Given the description of an element on the screen output the (x, y) to click on. 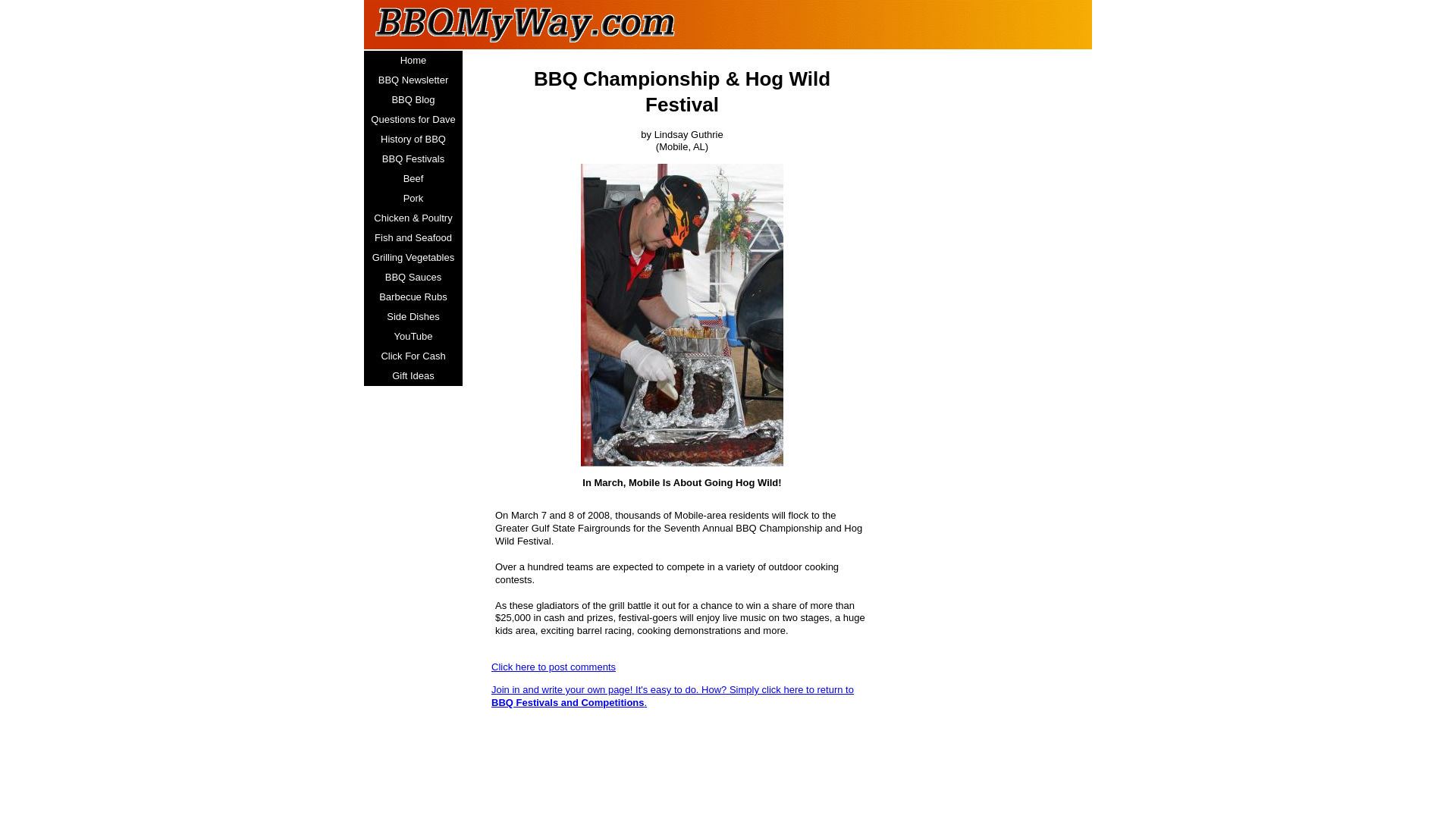
BBQ Sauces (413, 277)
Gift Ideas (413, 375)
Fish and Seafood (413, 238)
Questions for Dave (413, 119)
Click For Cash (413, 356)
Home (413, 60)
BBQ Newsletter (413, 80)
BBQ Festivals (413, 158)
YouTube (413, 336)
Click here to post comments (553, 666)
Barbecue Rubs (413, 297)
Side Dishes (413, 316)
Pork (413, 198)
Grilling Vegetables (413, 257)
